Given the description of an element on the screen output the (x, y) to click on. 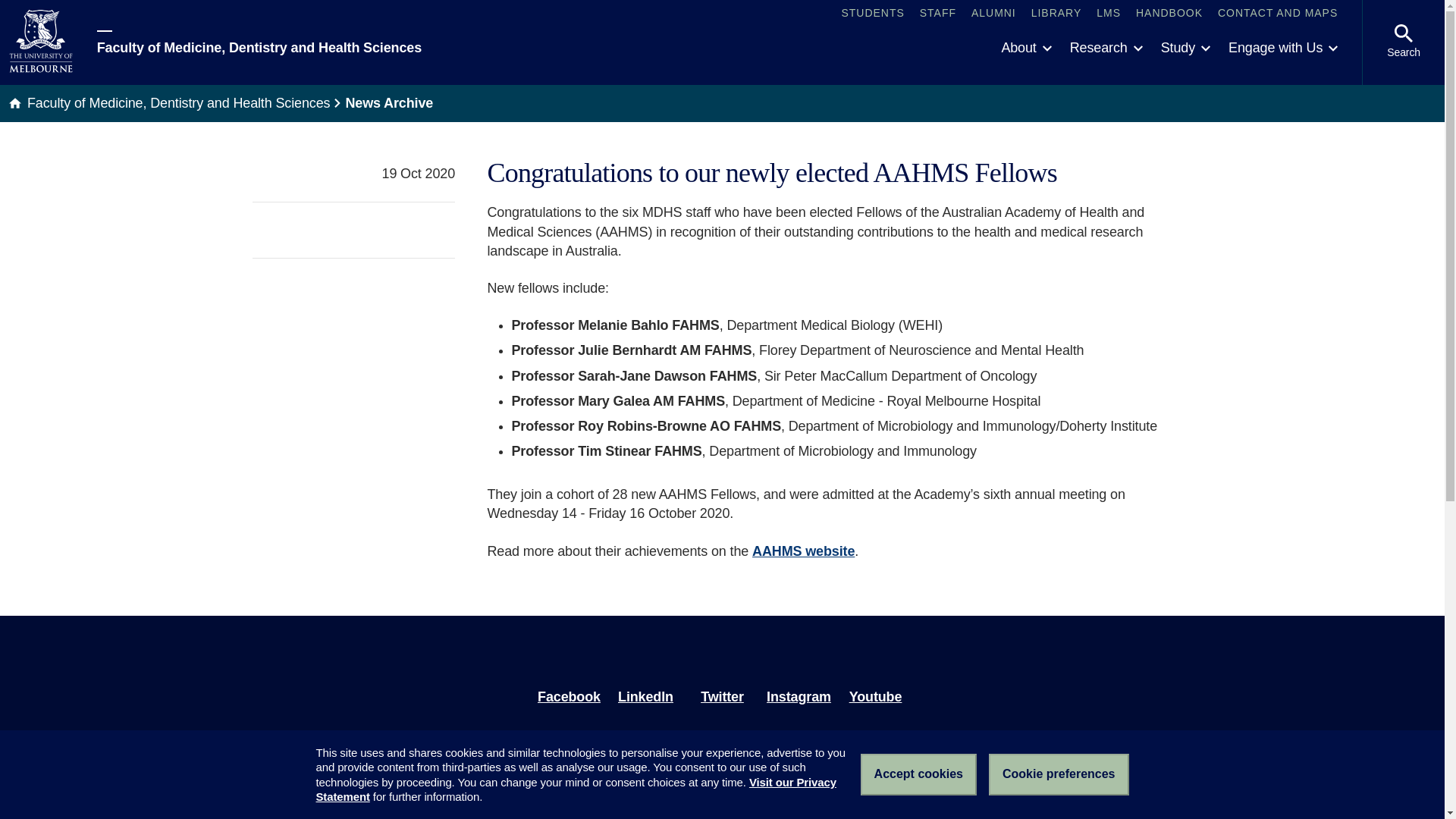
About (1025, 48)
STUDENTS (872, 13)
HANDBOOK (1168, 13)
Share on Facebook (417, 229)
STAFF (938, 13)
LMS (1108, 13)
Faculty of Medicine, Dentistry and Health Sciences (259, 42)
ALUMNI (993, 13)
CONTACT AND MAPS (1277, 13)
Research (1106, 48)
